Given the description of an element on the screen output the (x, y) to click on. 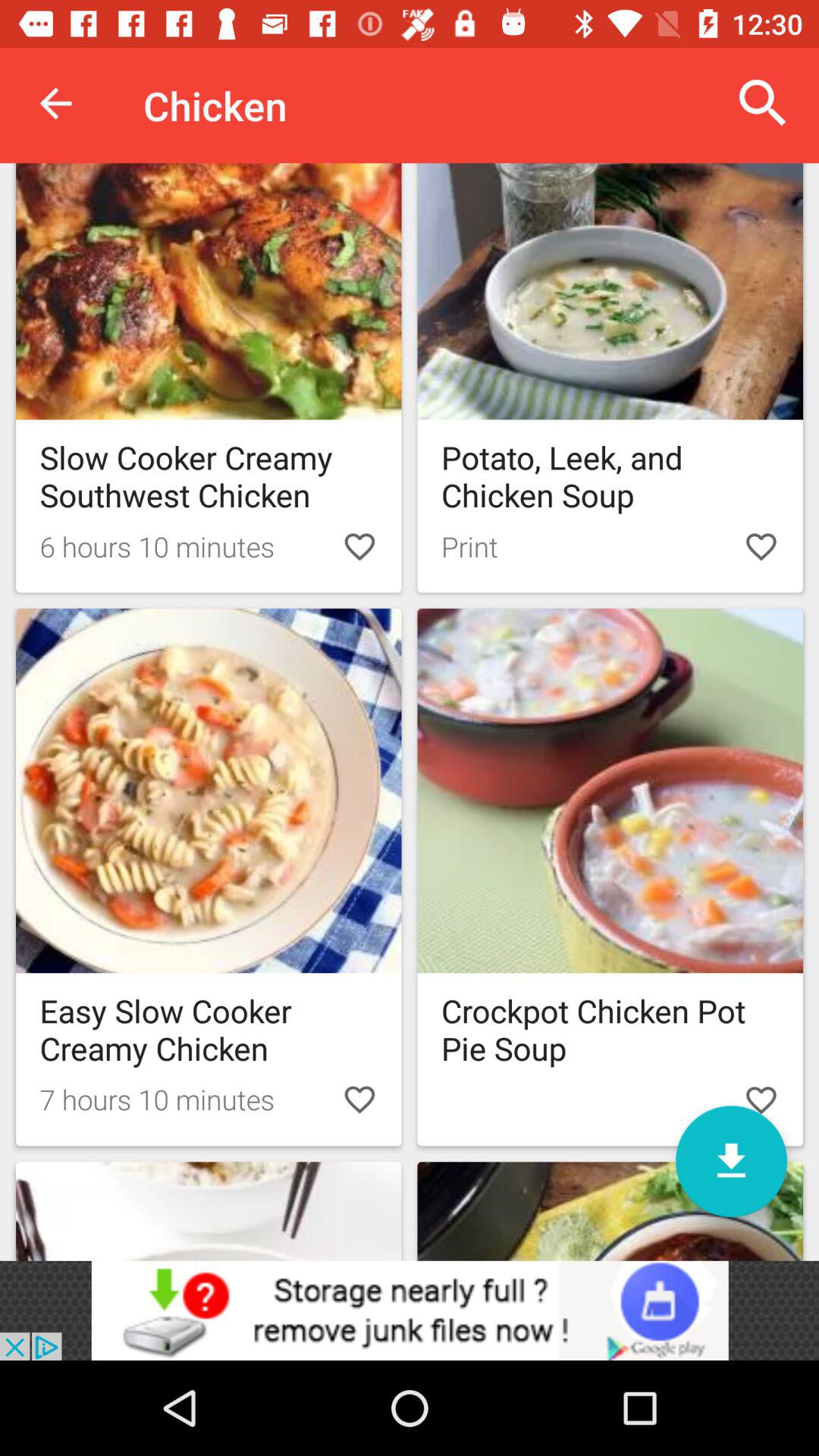
open advertisement (409, 1310)
